Given the description of an element on the screen output the (x, y) to click on. 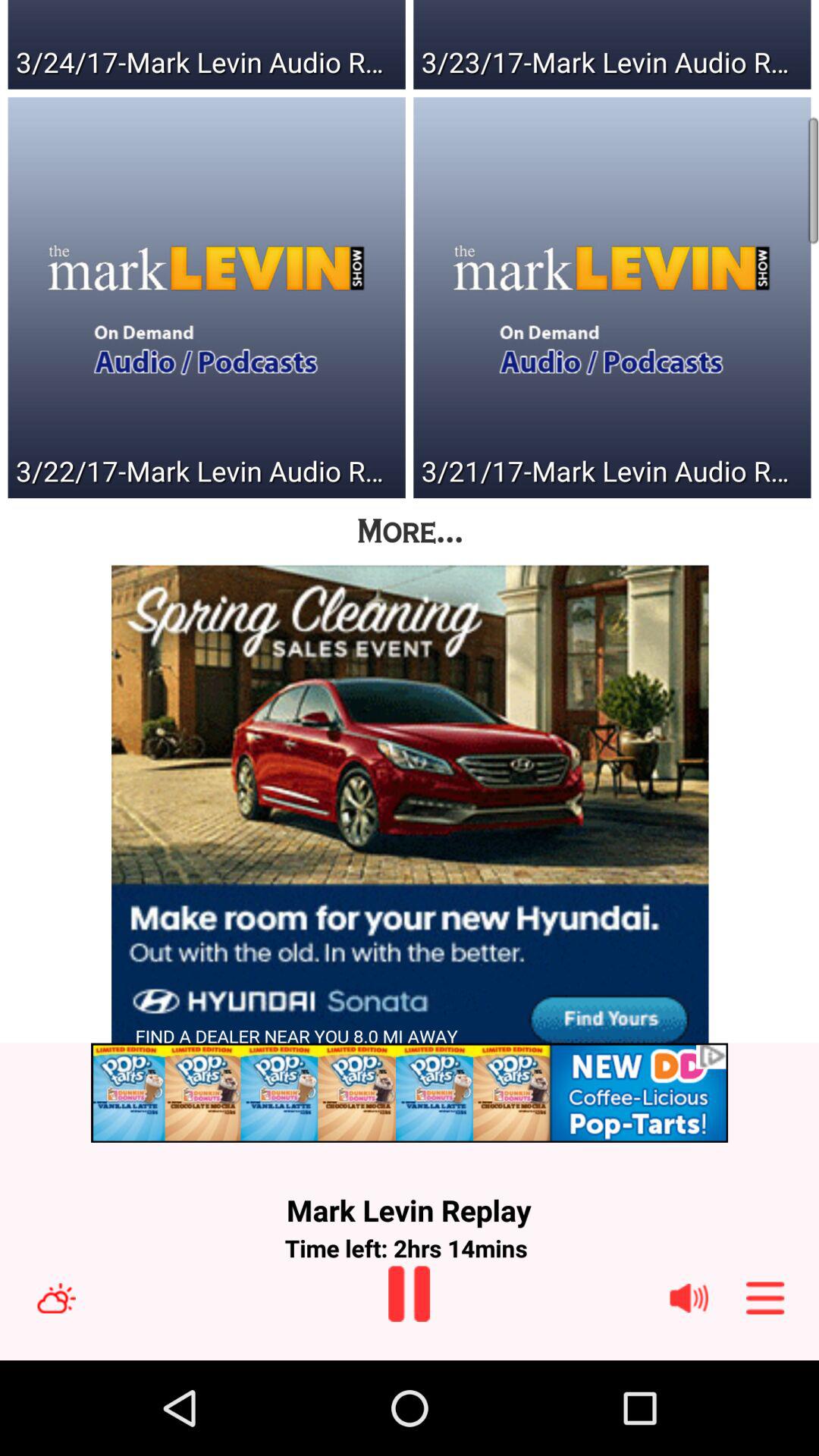
navigation menu (765, 1298)
